Given the description of an element on the screen output the (x, y) to click on. 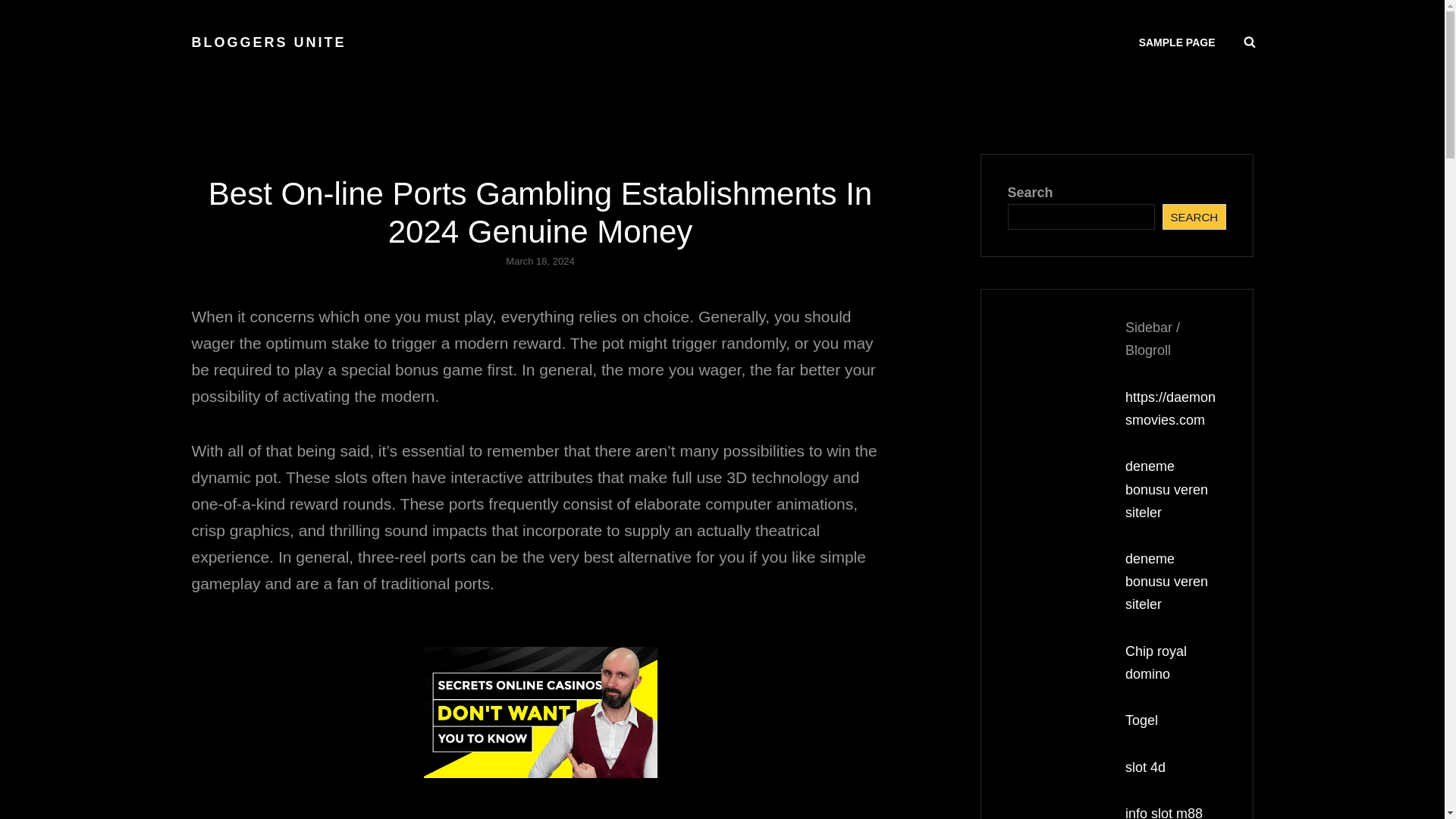
Togel (1141, 720)
slot 4d (1145, 767)
deneme bonusu veren siteler (1166, 488)
March 18, 2024 (539, 260)
info slot m88 (1163, 812)
deneme bonusu veren siteler (1166, 581)
SEARCH (1249, 42)
SEARCH (1193, 216)
BLOGGERS UNITE (268, 42)
Chip royal domino (1155, 662)
SAMPLE PAGE (1177, 42)
